Given the description of an element on the screen output the (x, y) to click on. 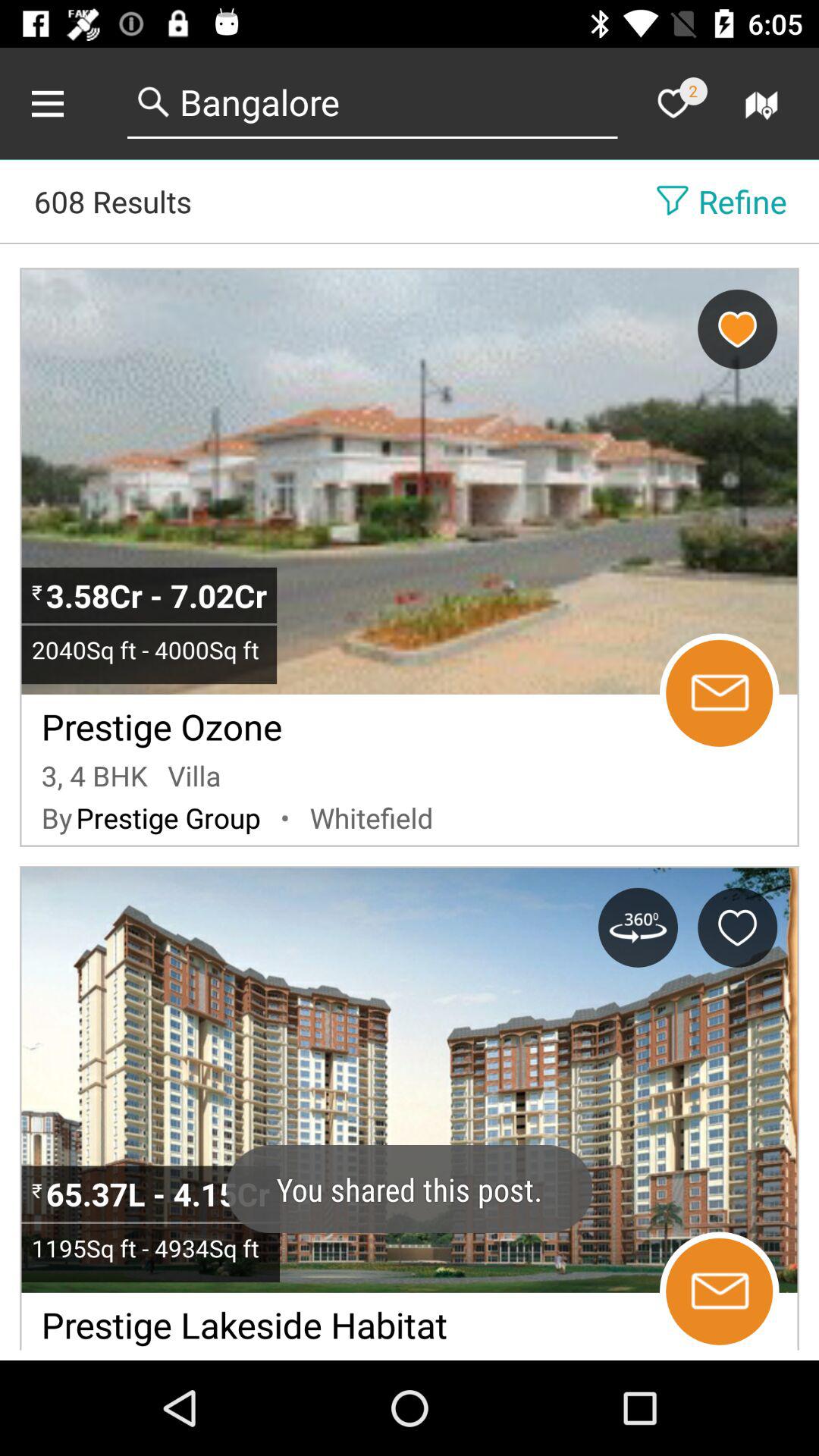
email property manager (719, 693)
